Given the description of an element on the screen output the (x, y) to click on. 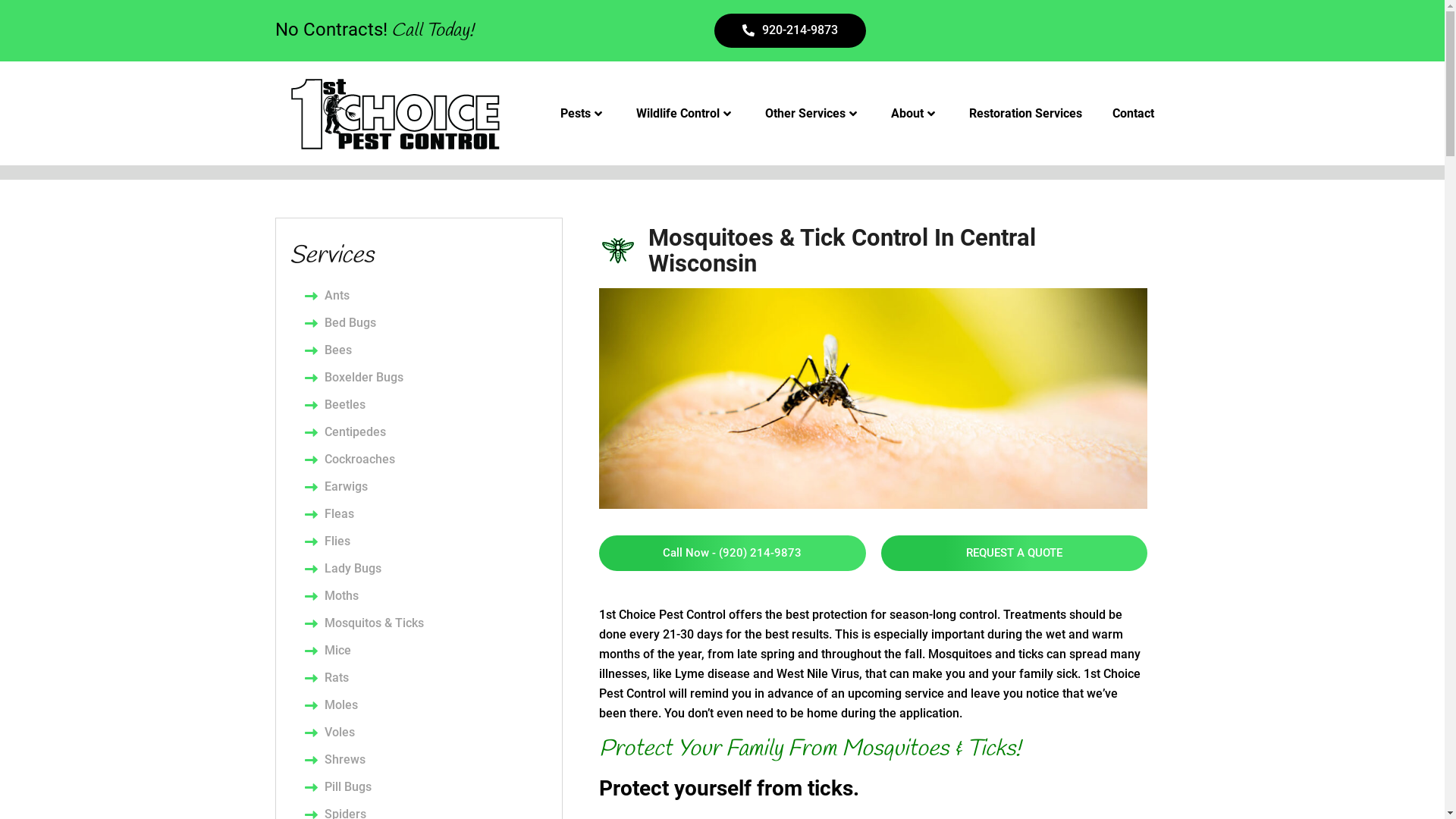
About Element type: text (914, 113)
REQUEST A QUOTE Element type: text (1014, 553)
Pill Bugs Element type: text (426, 787)
Pests Element type: text (583, 113)
920-214-9873 Element type: text (790, 30)
Wildlife Control Element type: text (685, 113)
Moths Element type: text (426, 595)
Boxelder Bugs Element type: text (426, 377)
Fleas Element type: text (426, 514)
Call Now - (920) 214-9873 Element type: text (732, 553)
Mosquitos & Ticks Element type: text (426, 623)
Shrews Element type: text (426, 759)
Flies Element type: text (426, 541)
Beetles Element type: text (426, 404)
Bed Bugs Element type: text (426, 322)
Voles Element type: text (426, 732)
Cockroaches Element type: text (426, 459)
Bees Element type: text (426, 350)
Contact Element type: text (1133, 113)
Earwigs Element type: text (426, 486)
Ants Element type: text (426, 295)
Restoration Services Element type: text (1025, 113)
Moles Element type: text (426, 705)
Lady Bugs Element type: text (426, 568)
Centipedes Element type: text (426, 432)
Mice Element type: text (426, 650)
Rats Element type: text (426, 677)
Other Services Element type: text (812, 113)
